Given the description of an element on the screen output the (x, y) to click on. 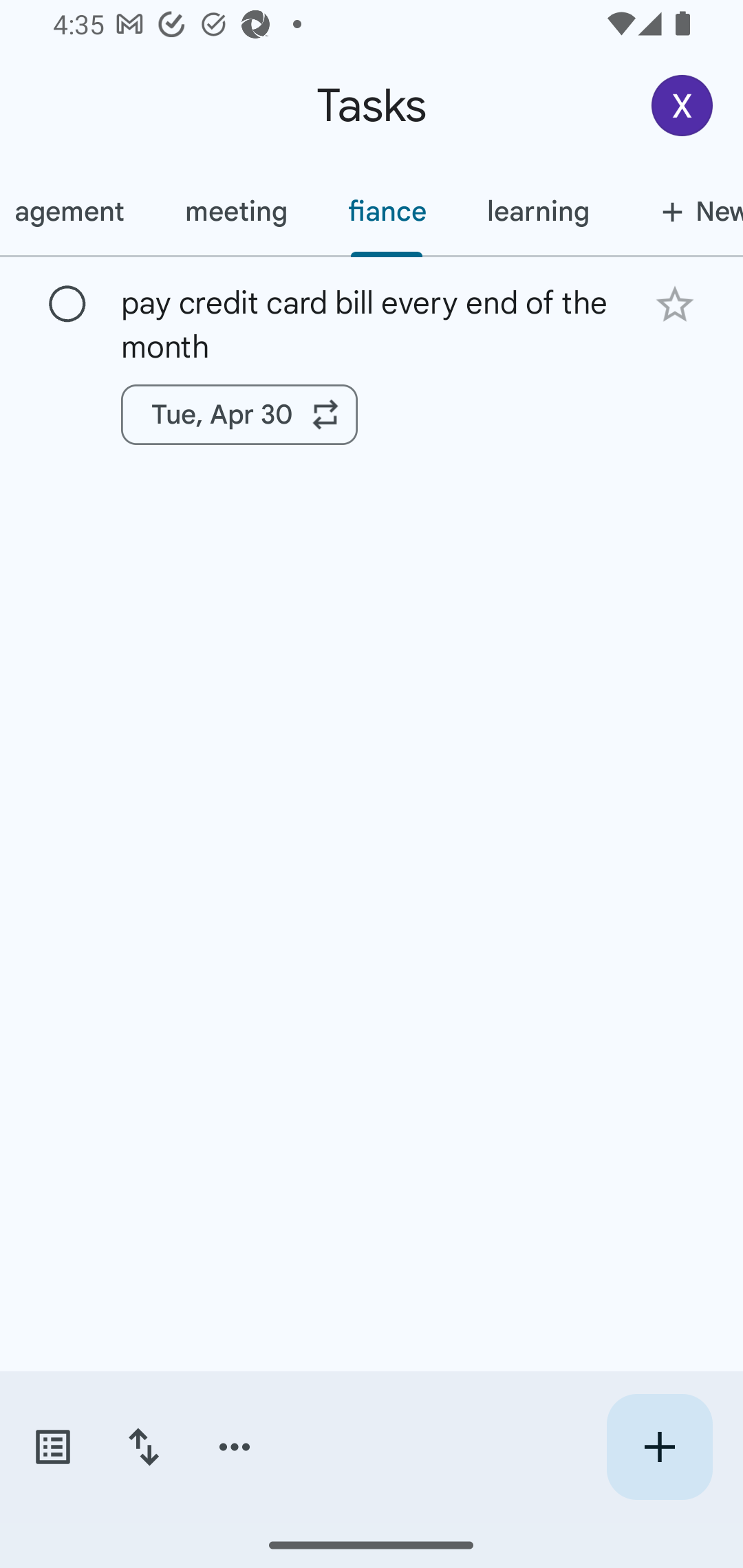
home management (76, 211)
meeting (235, 211)
learning (537, 211)
New list (680, 211)
Add star (674, 303)
Mark as complete (67, 304)
Tue, Apr 30 (239, 414)
Switch task lists (52, 1447)
Create new task (659, 1446)
Change sort order (143, 1446)
More options (234, 1446)
